Given the description of an element on the screen output the (x, y) to click on. 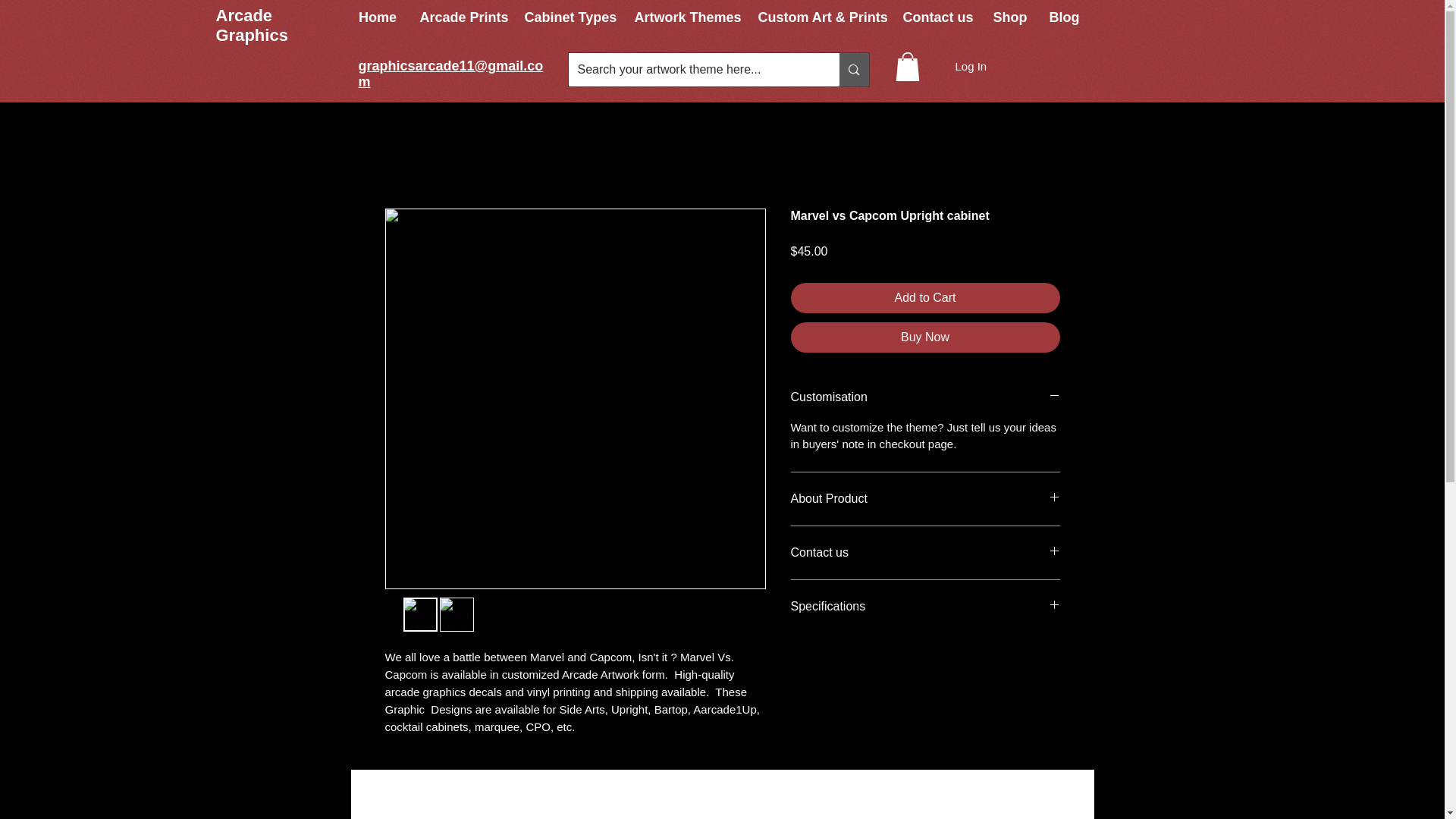
Arcade Prints (459, 17)
Cabinet Types (567, 17)
Artwork Themes (684, 17)
Buy Now (924, 337)
Log In (970, 66)
Shop (1008, 17)
Add to Cart (924, 297)
Home (378, 17)
Customisation (924, 397)
Arcade Graphics (250, 25)
Contact us (936, 17)
Blog (1062, 17)
